Given the description of an element on the screen output the (x, y) to click on. 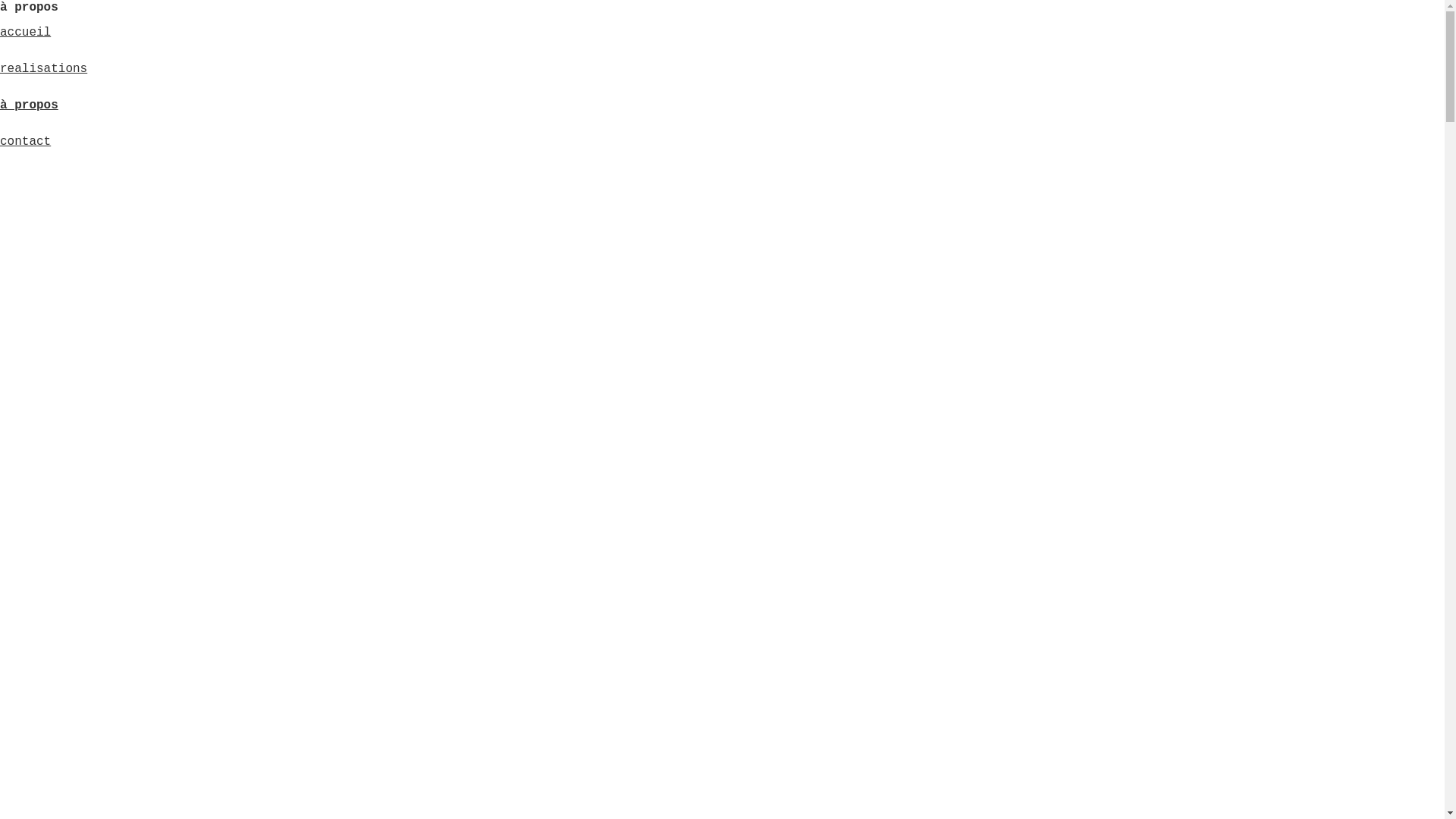
realisations Element type: text (43, 68)
accueil Element type: text (25, 32)
contact Element type: text (25, 141)
